Given the description of an element on the screen output the (x, y) to click on. 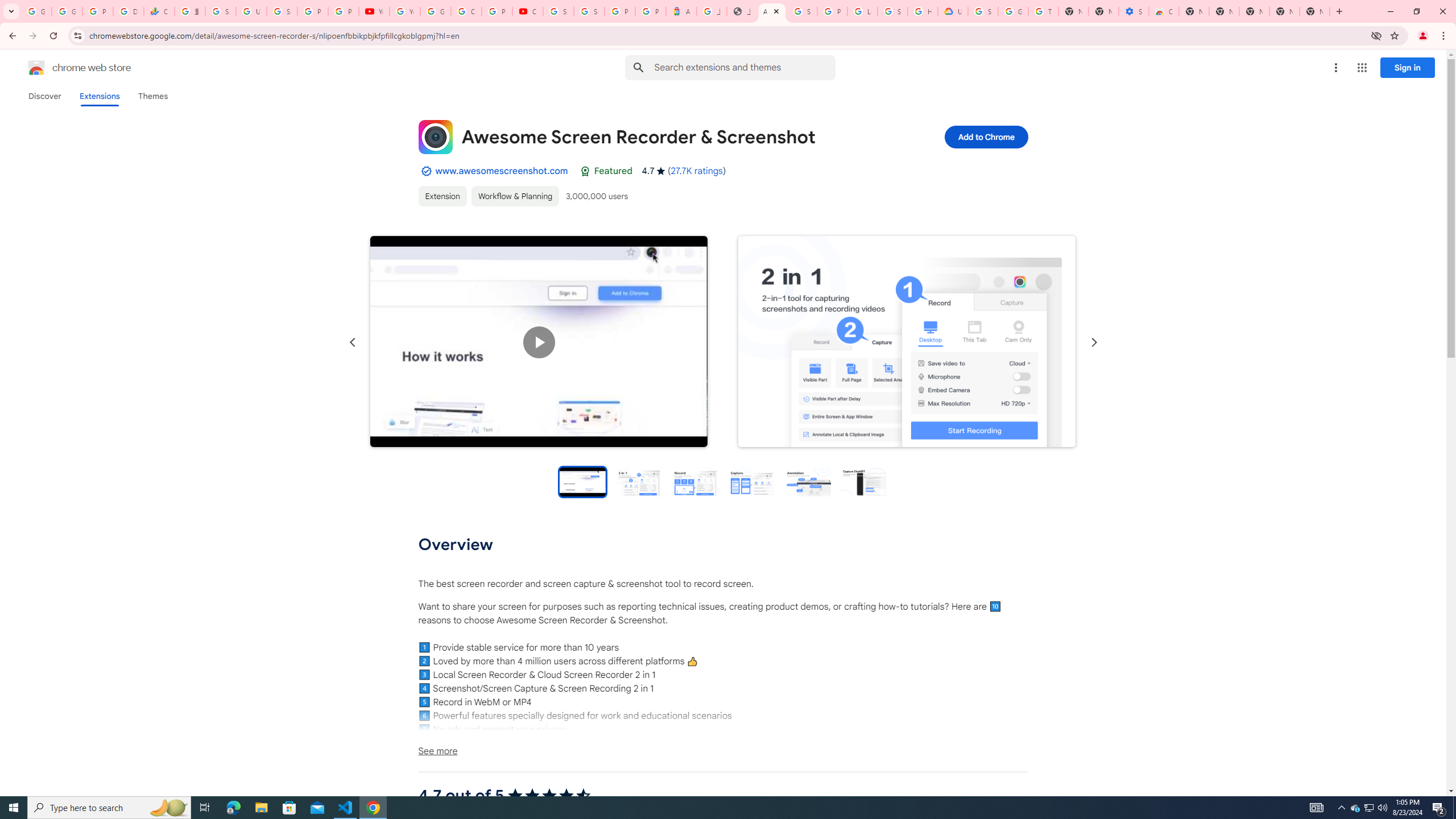
Featured Badge (584, 170)
Sign in - Google Accounts (558, 11)
By Established Publisher Badge (425, 170)
Chrome Web Store - Accessibility extensions (1163, 11)
www.awesomescreenshot.com (501, 170)
Google Workspace Admin Community (36, 11)
Settings - Accessibility (1133, 11)
